Given the description of an element on the screen output the (x, y) to click on. 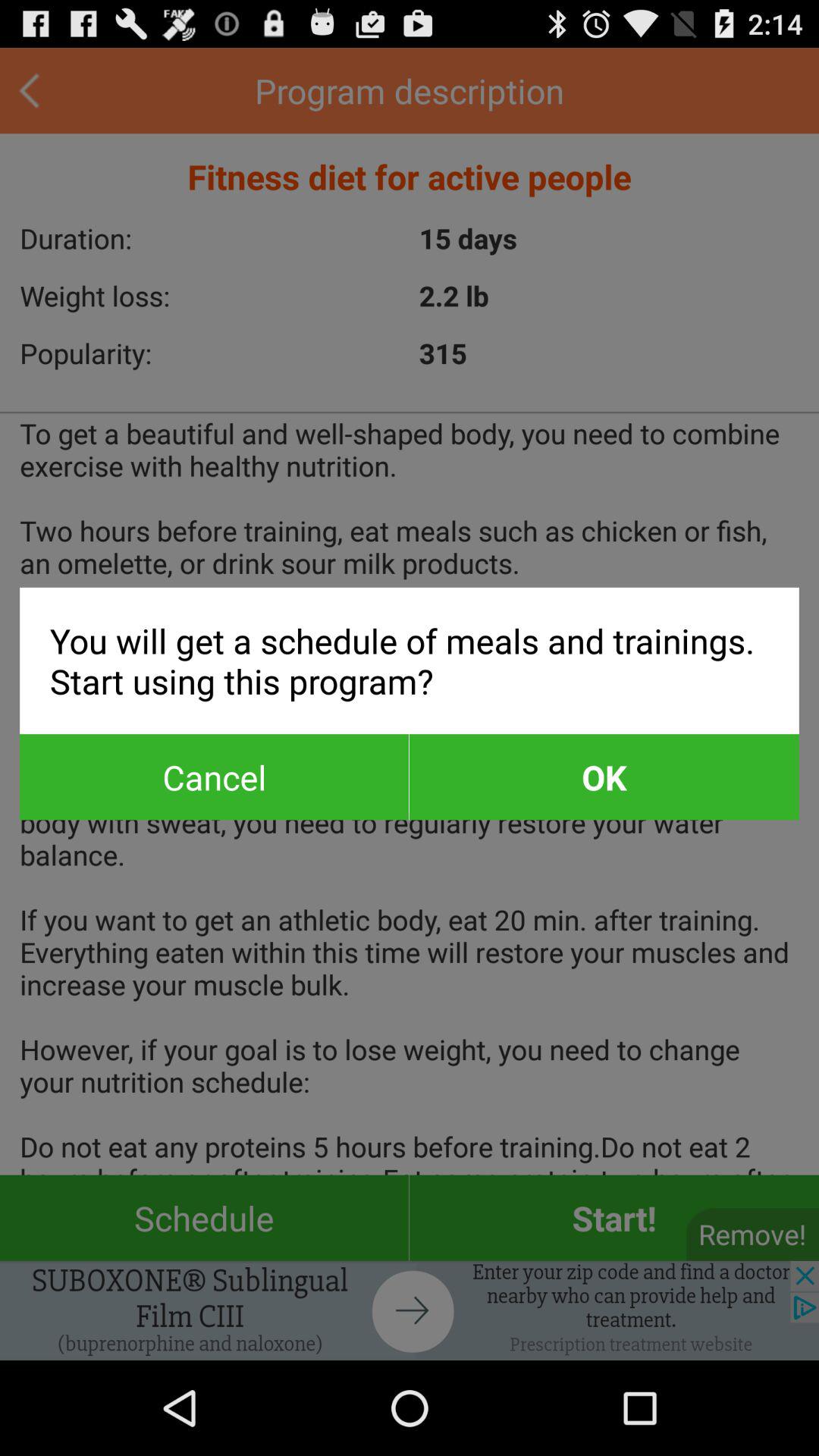
select item on the left (213, 777)
